Given the description of an element on the screen output the (x, y) to click on. 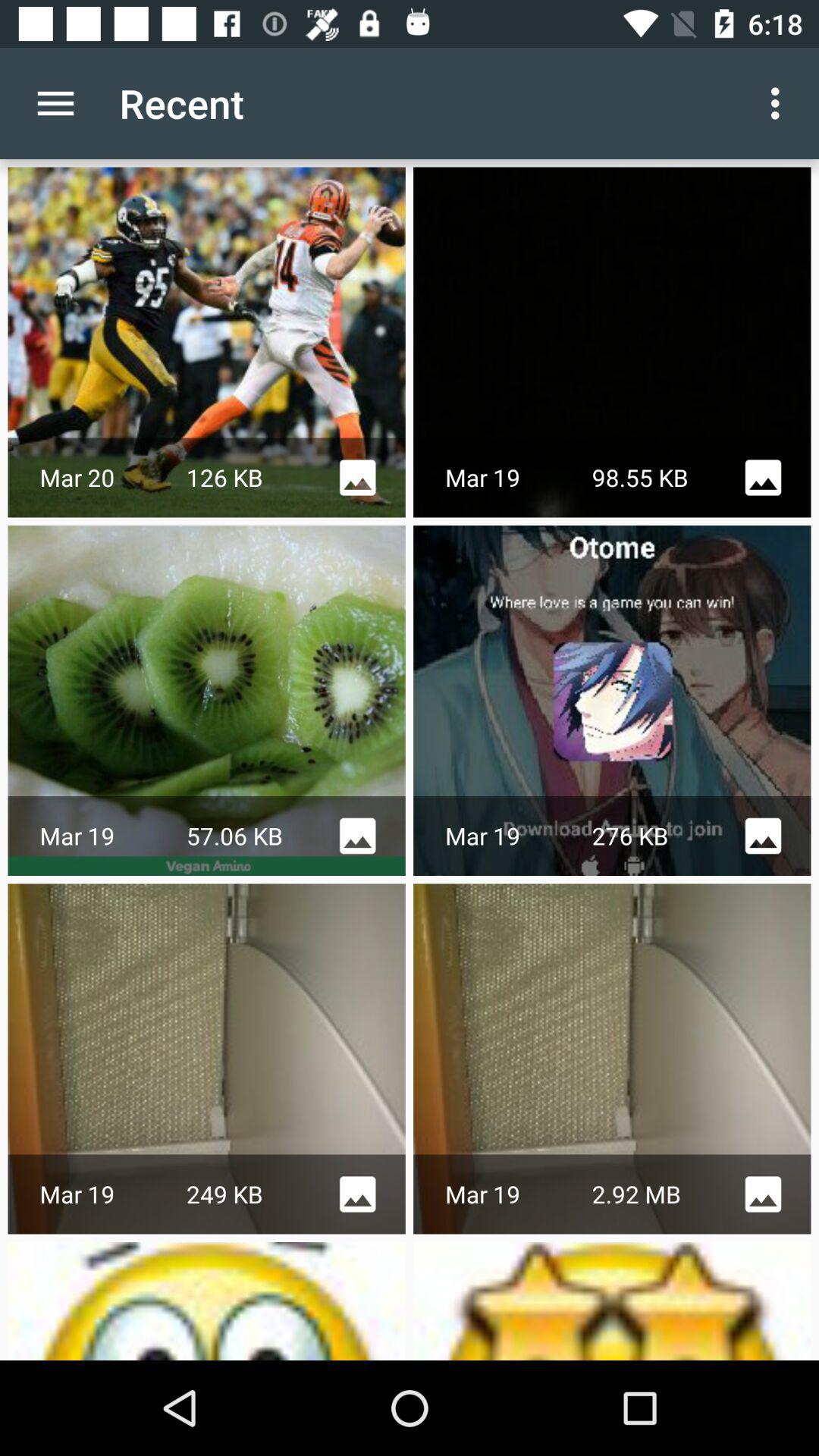
turn on the app next to the recent (779, 103)
